Given the description of an element on the screen output the (x, y) to click on. 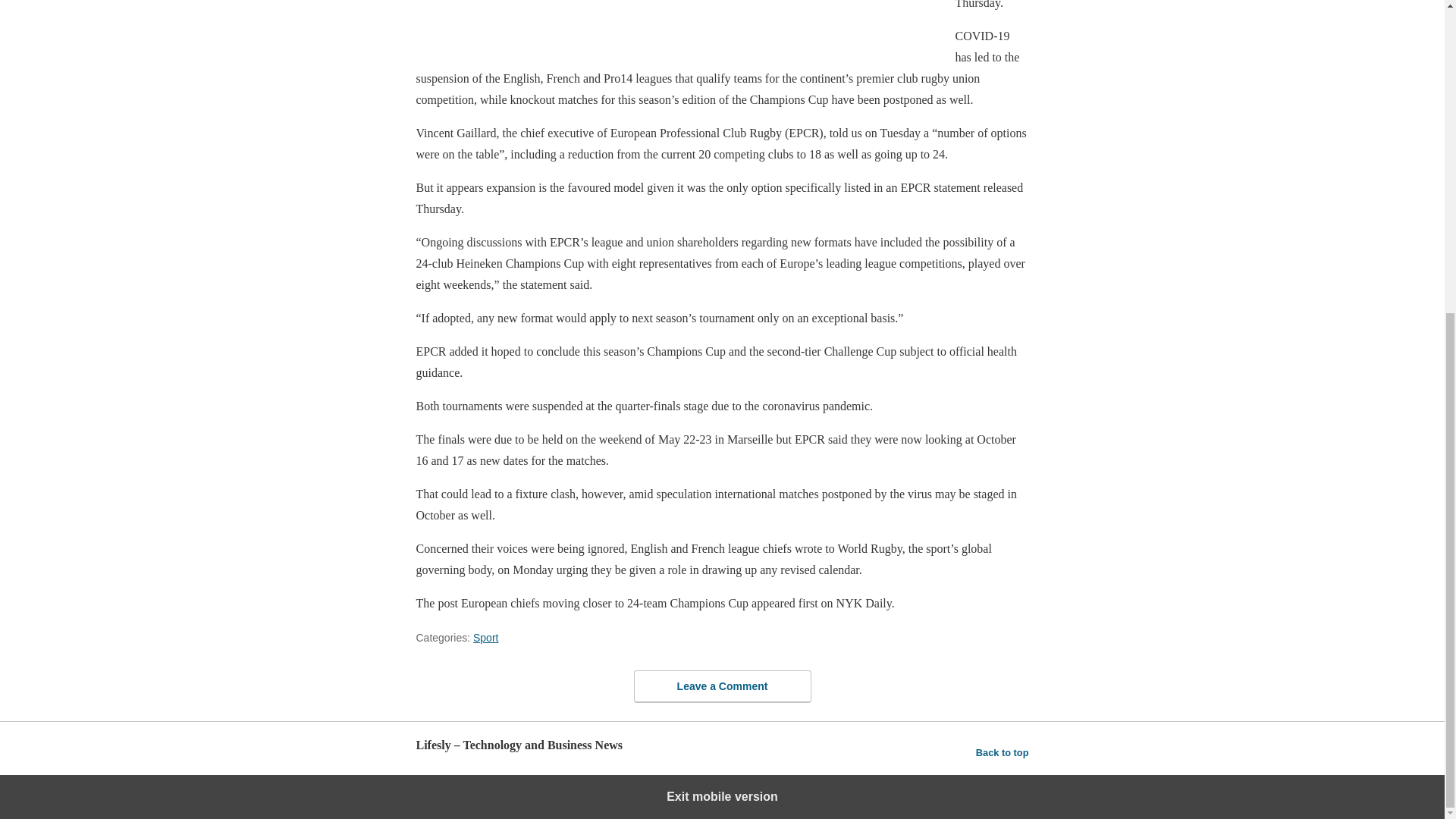
Back to top (1002, 752)
Sport (485, 637)
Leave a Comment (721, 686)
